Given the description of an element on the screen output the (x, y) to click on. 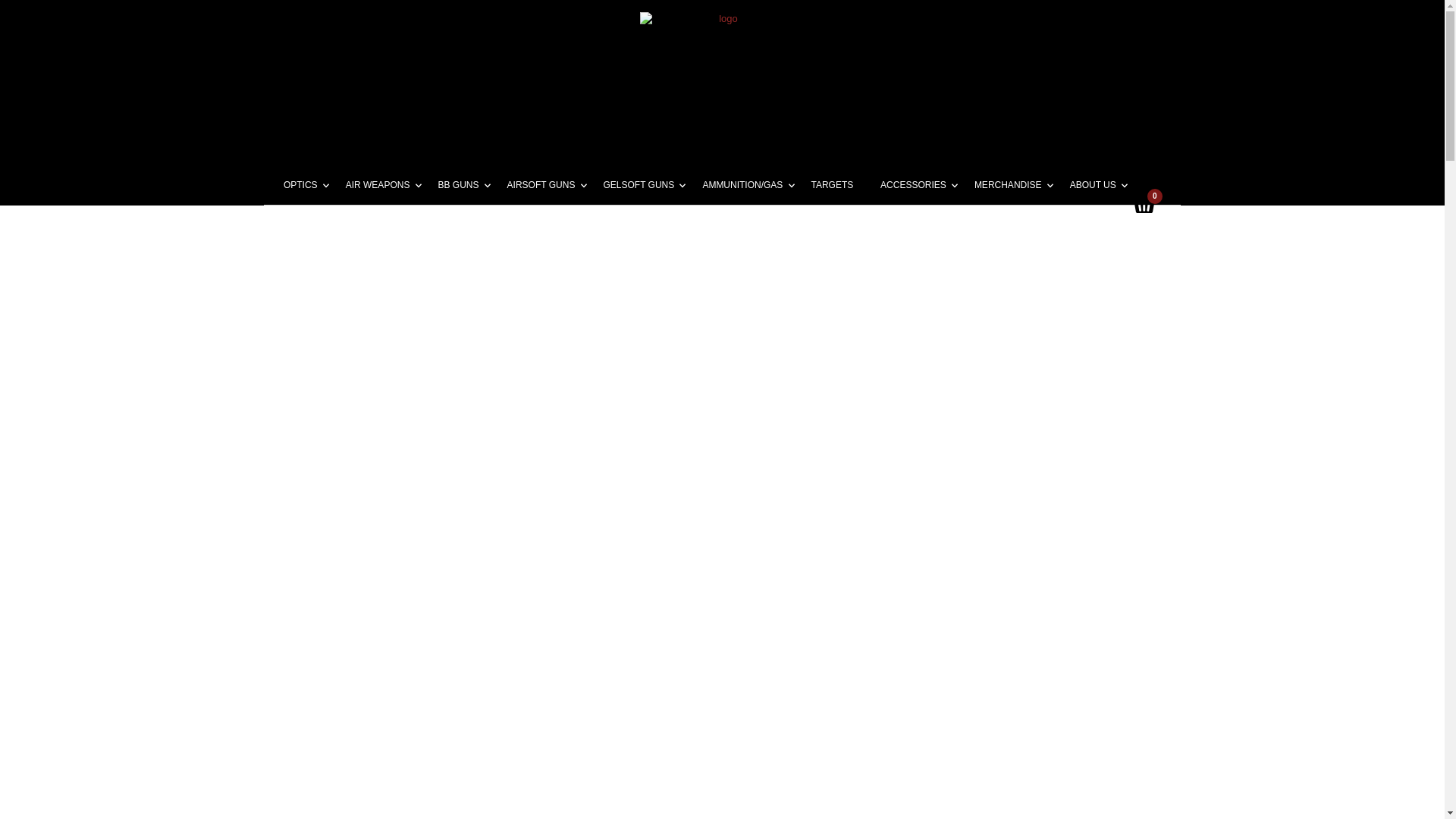
AIR WEAPONS (378, 184)
GELSOFT GUNS (638, 184)
OPTICS (300, 184)
AIRSOFT GUNS (541, 184)
BB GUNS (459, 184)
